Given the description of an element on the screen output the (x, y) to click on. 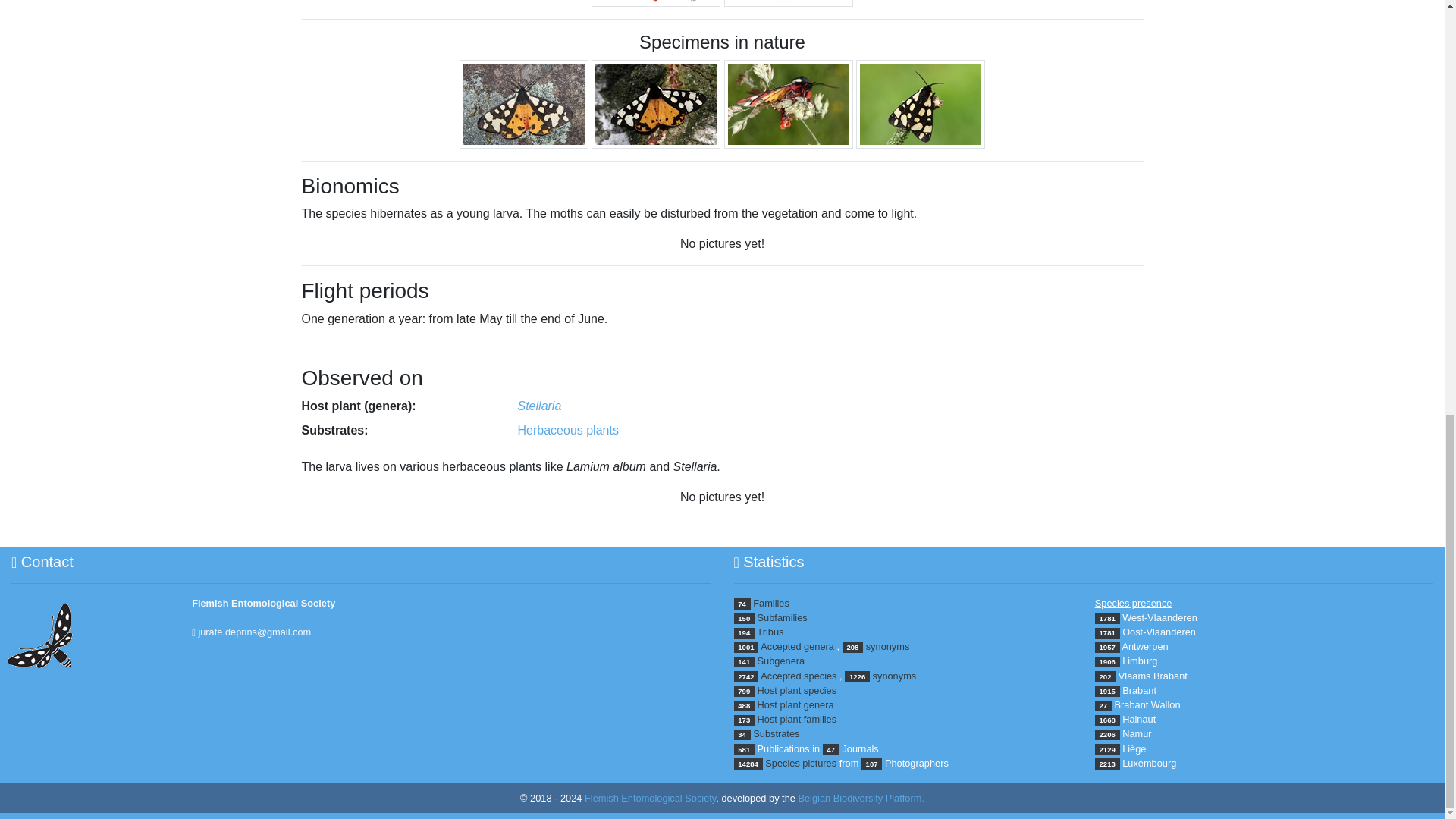
Host plant families (797, 718)
Subgenera (781, 660)
Herbaceous plants (566, 430)
Host plant genera (795, 704)
Flemish Entomological Society (263, 603)
Flemish Entomological Society (650, 797)
Tribus (770, 632)
synonyms (888, 645)
synonyms (894, 675)
Accepted genera (797, 645)
Host plant species (797, 690)
Species pictures (800, 763)
Stellaria (538, 405)
Substrates (775, 733)
Subfamilies (782, 617)
